Given the description of an element on the screen output the (x, y) to click on. 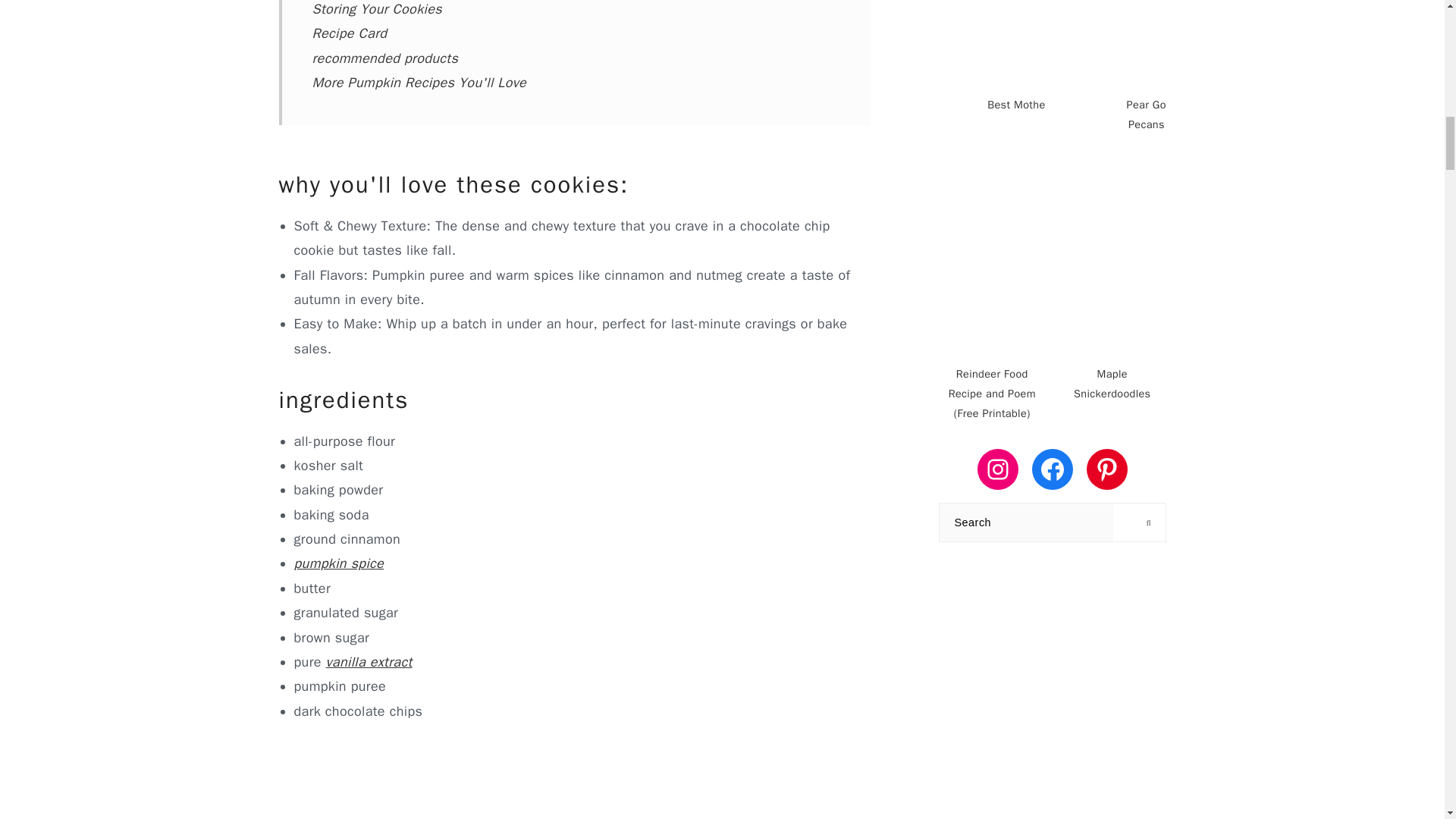
Storing Your Cookies (377, 8)
More Pumpkin Recipes You'll Love (420, 82)
Recipe Card (350, 33)
recommended products (385, 57)
pumpkin spice (339, 563)
